Given the description of an element on the screen output the (x, y) to click on. 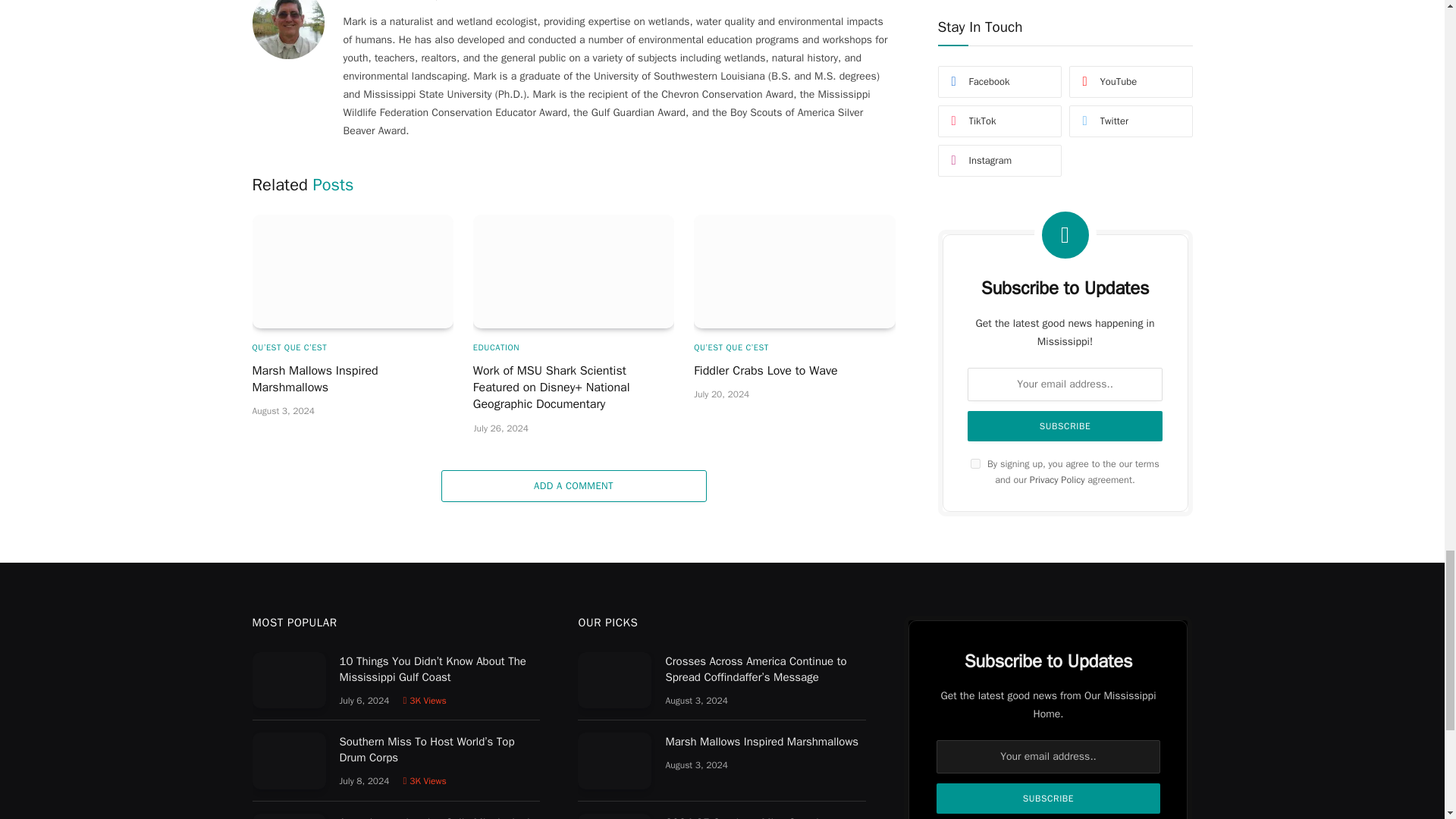
Subscribe (1047, 798)
